Given the description of an element on the screen output the (x, y) to click on. 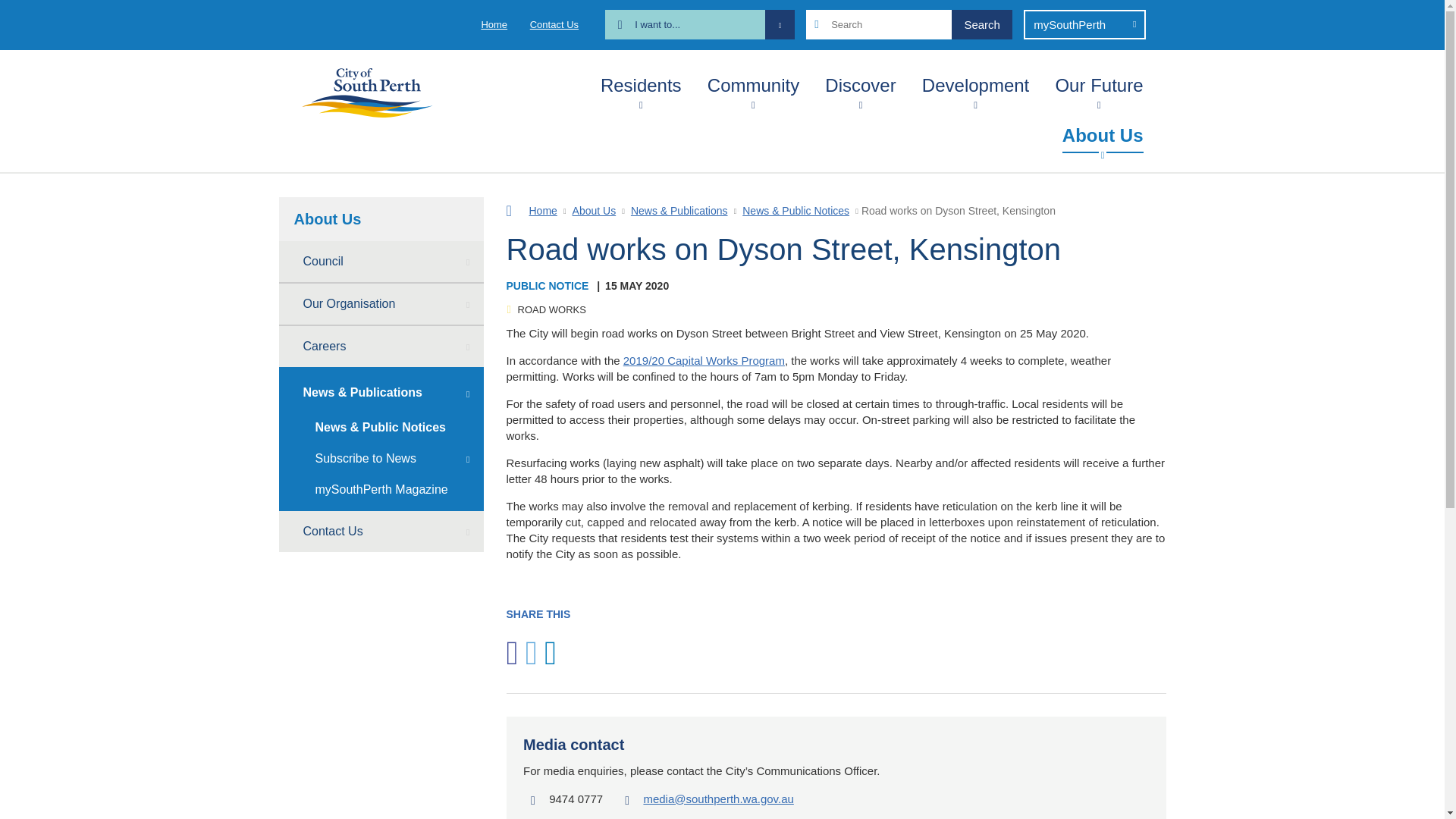
Search (981, 24)
Contact Us (553, 24)
Home (493, 24)
Residents (640, 82)
Search input (908, 24)
mySouthPerth (1084, 24)
